Given the description of an element on the screen output the (x, y) to click on. 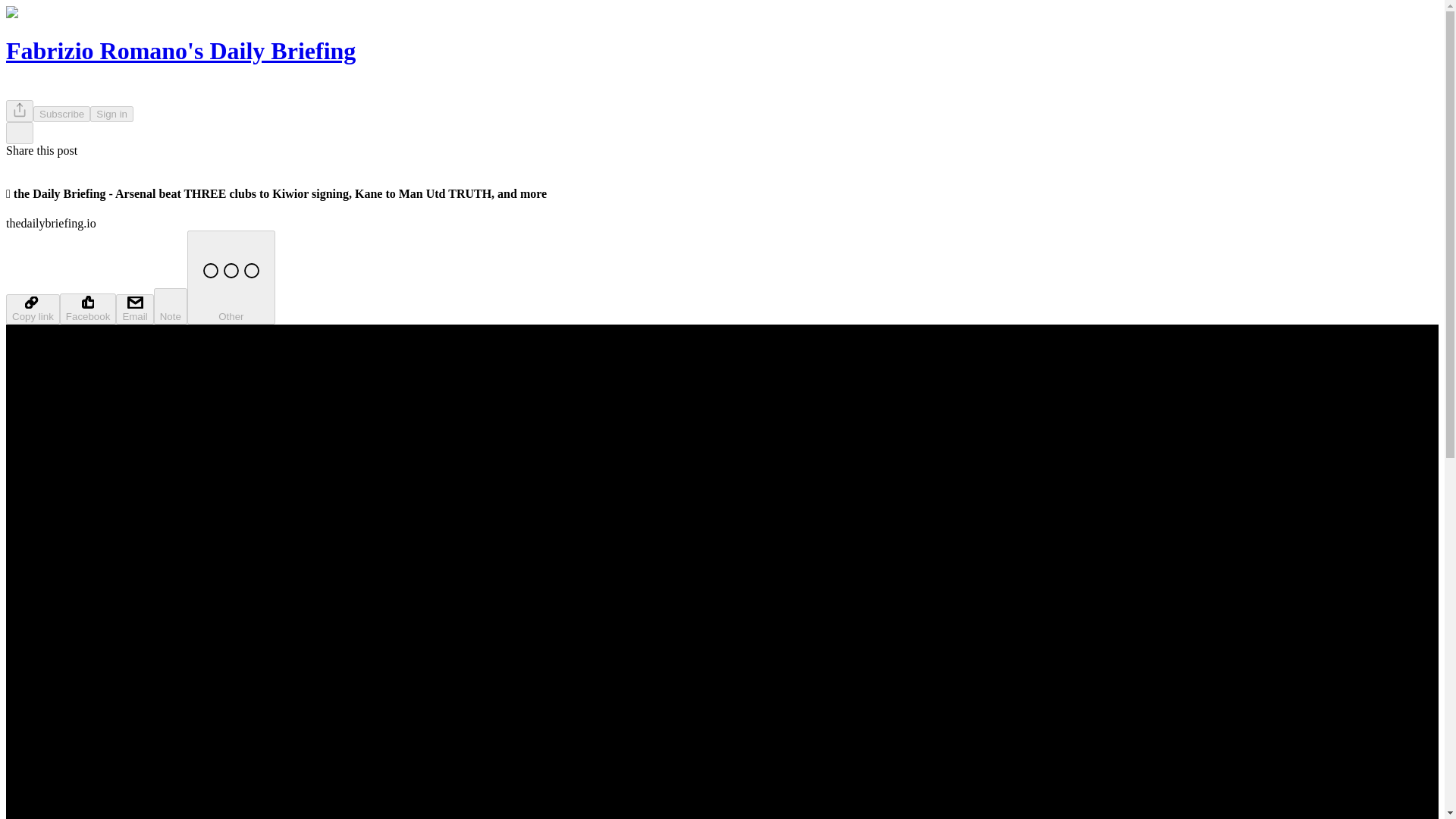
Facebook (87, 308)
Sign in (111, 114)
Other (231, 277)
Email (134, 309)
Fabrizio Romano's Daily Briefing (180, 50)
Subscribe (61, 114)
Copy link (32, 309)
Note (170, 306)
